Given the description of an element on the screen output the (x, y) to click on. 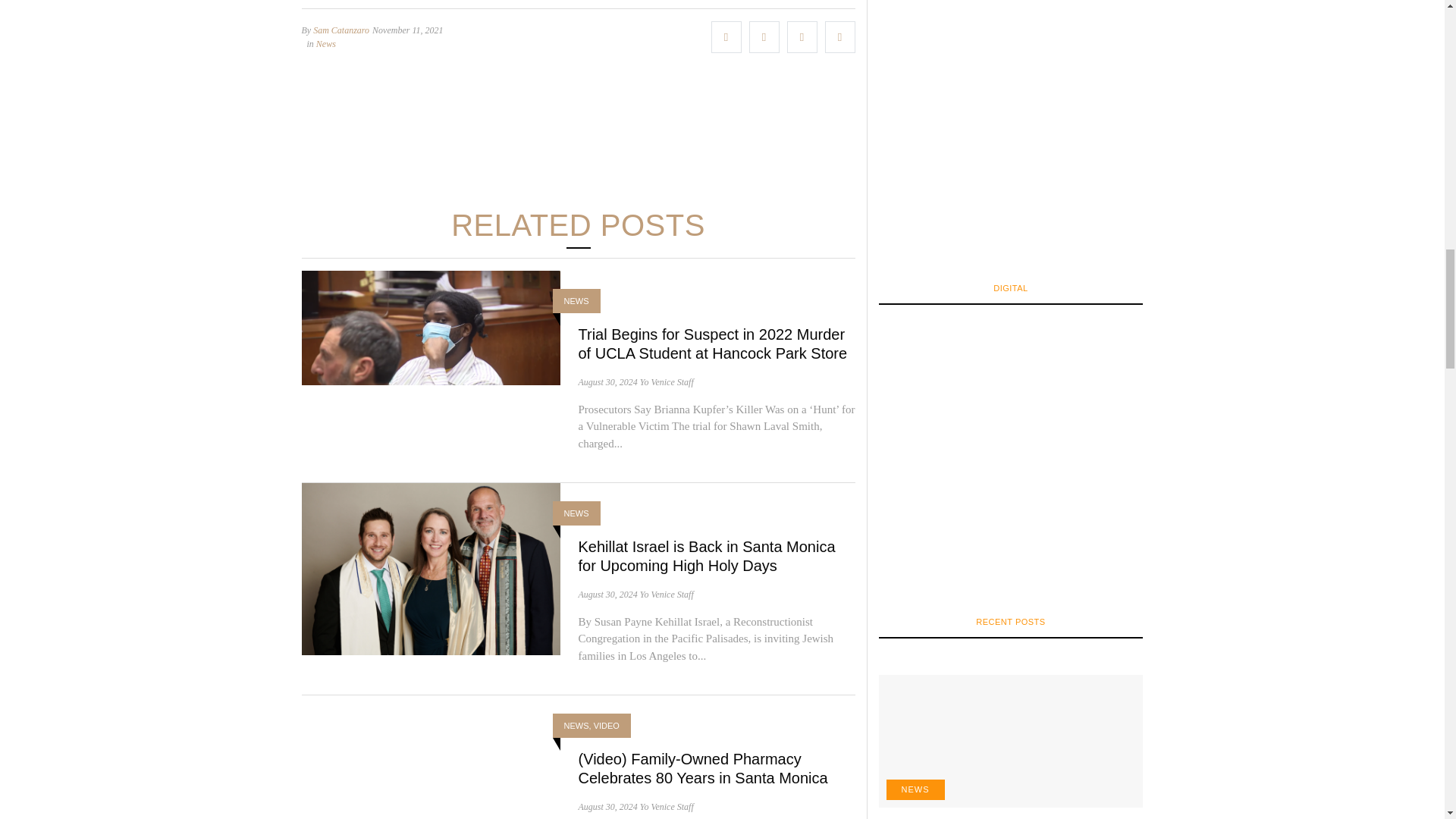
NEWS (576, 300)
News (325, 43)
Sam Catanzaro (341, 30)
Posts by Sam Catanzaro (341, 30)
Posts by Yo Venice Staff (667, 593)
Posts by Yo Venice Staff (667, 805)
